Given the description of an element on the screen output the (x, y) to click on. 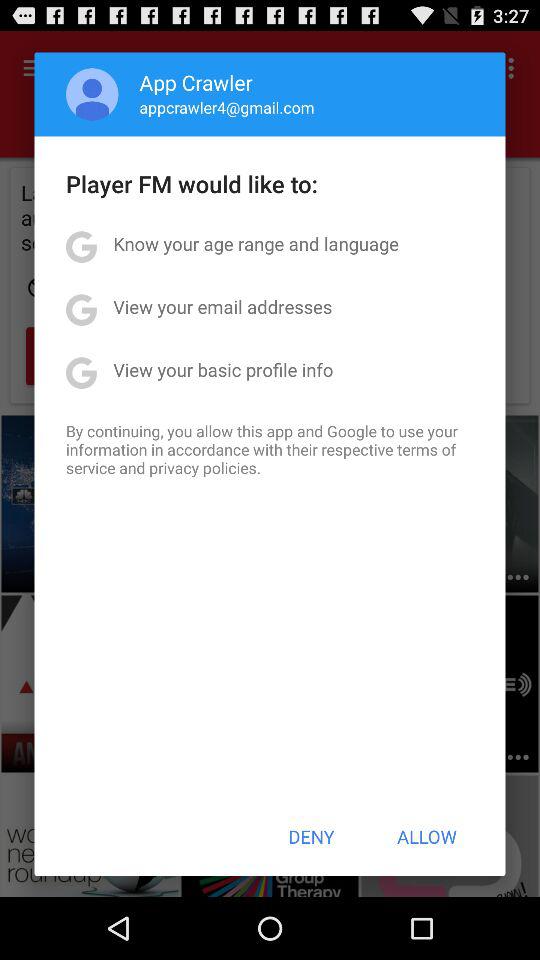
click item next to app crawler (92, 94)
